Given the description of an element on the screen output the (x, y) to click on. 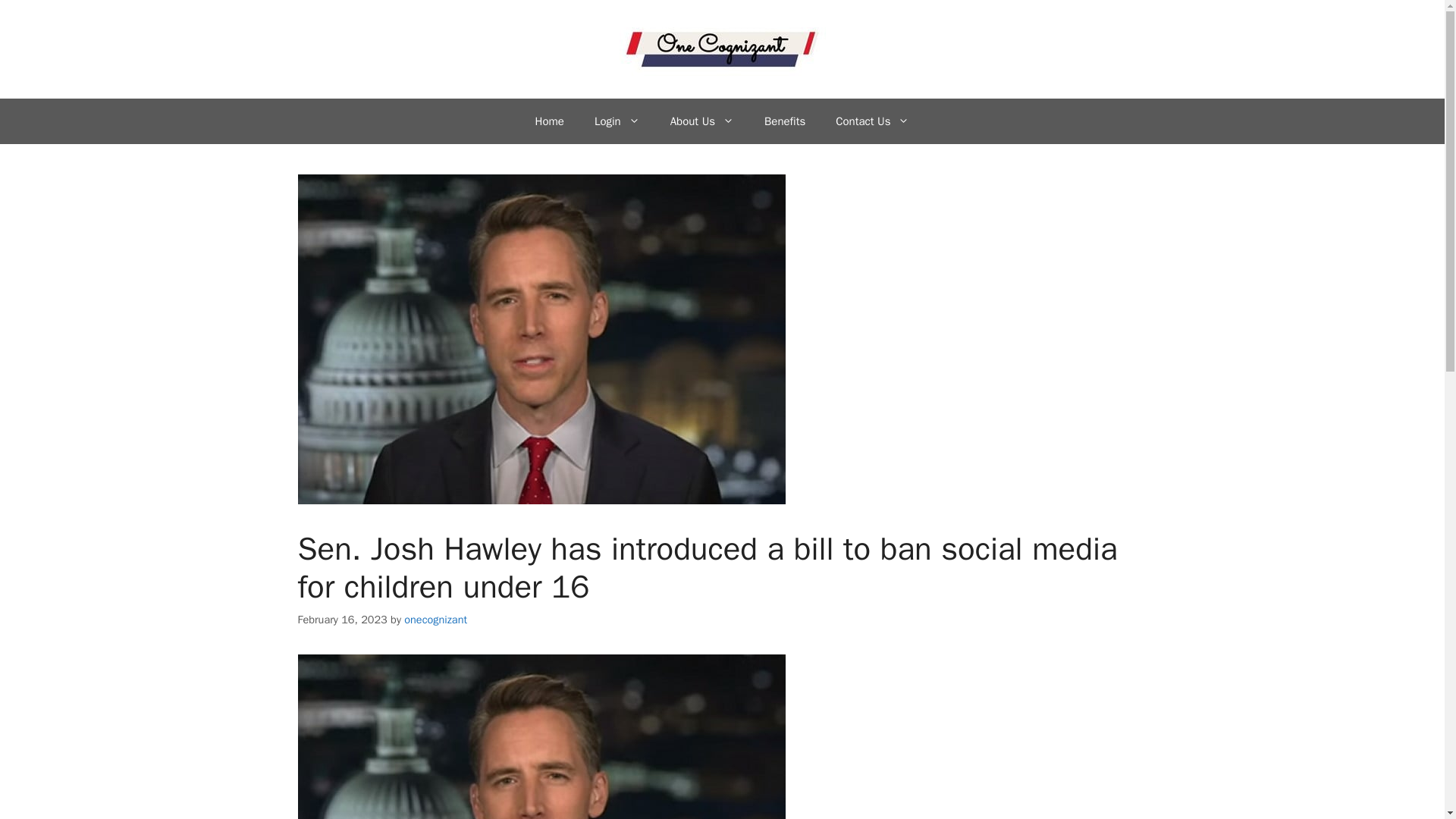
Benefits (785, 121)
Login (617, 121)
Contact Us (872, 121)
Home (549, 121)
View all posts by onecognizant (435, 619)
About Us (702, 121)
onecognizant (435, 619)
